Given the description of an element on the screen output the (x, y) to click on. 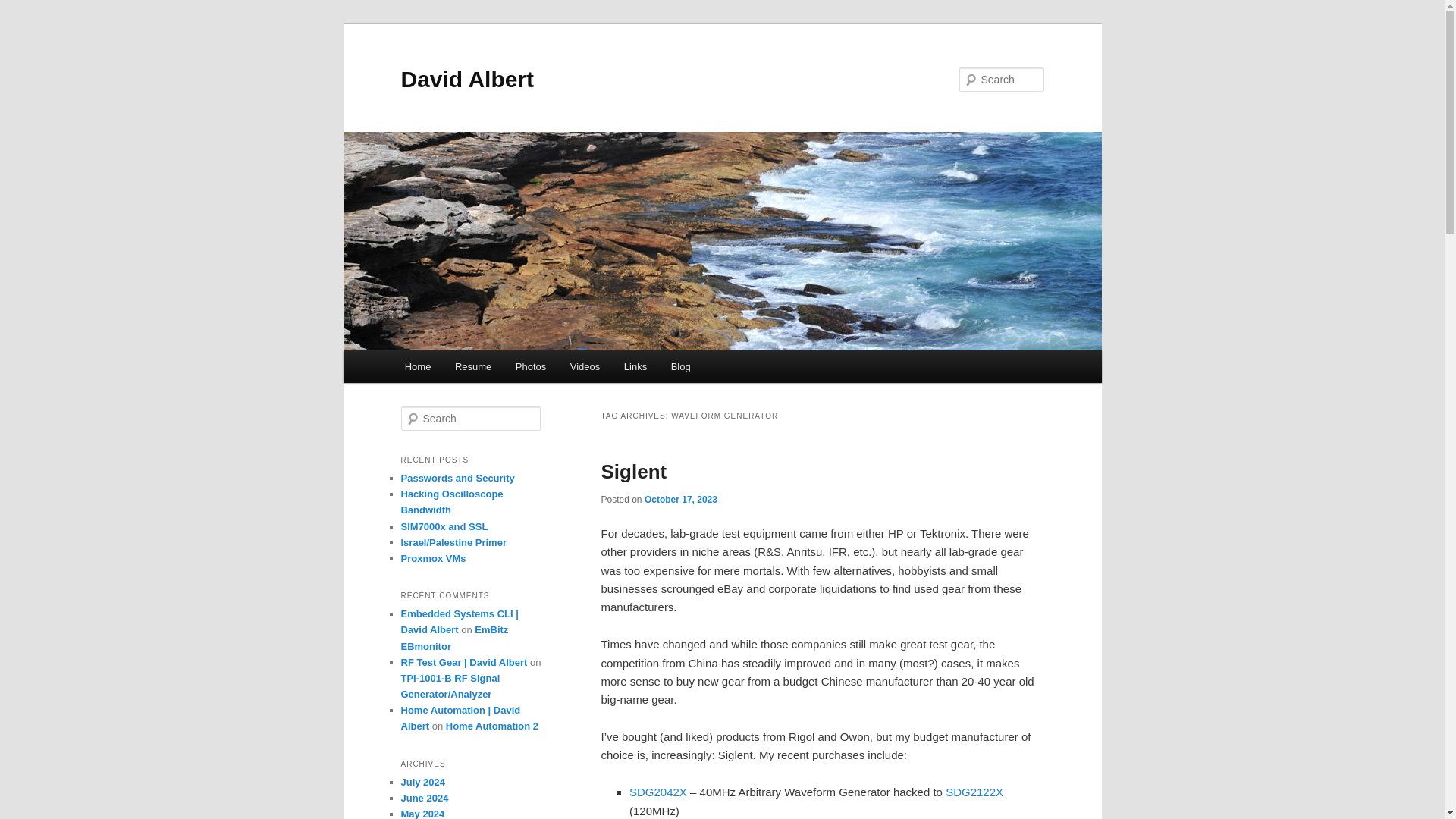
Links (635, 366)
Siglent (632, 471)
Resume (472, 366)
Search (24, 8)
Photos (530, 366)
Home (417, 366)
Search (21, 11)
SDG2122X (973, 791)
Videos (584, 366)
Passwords and Security (456, 478)
4:43 pm (681, 499)
October 17, 2023 (681, 499)
Blog (681, 366)
David Albert (467, 78)
